Given the description of an element on the screen output the (x, y) to click on. 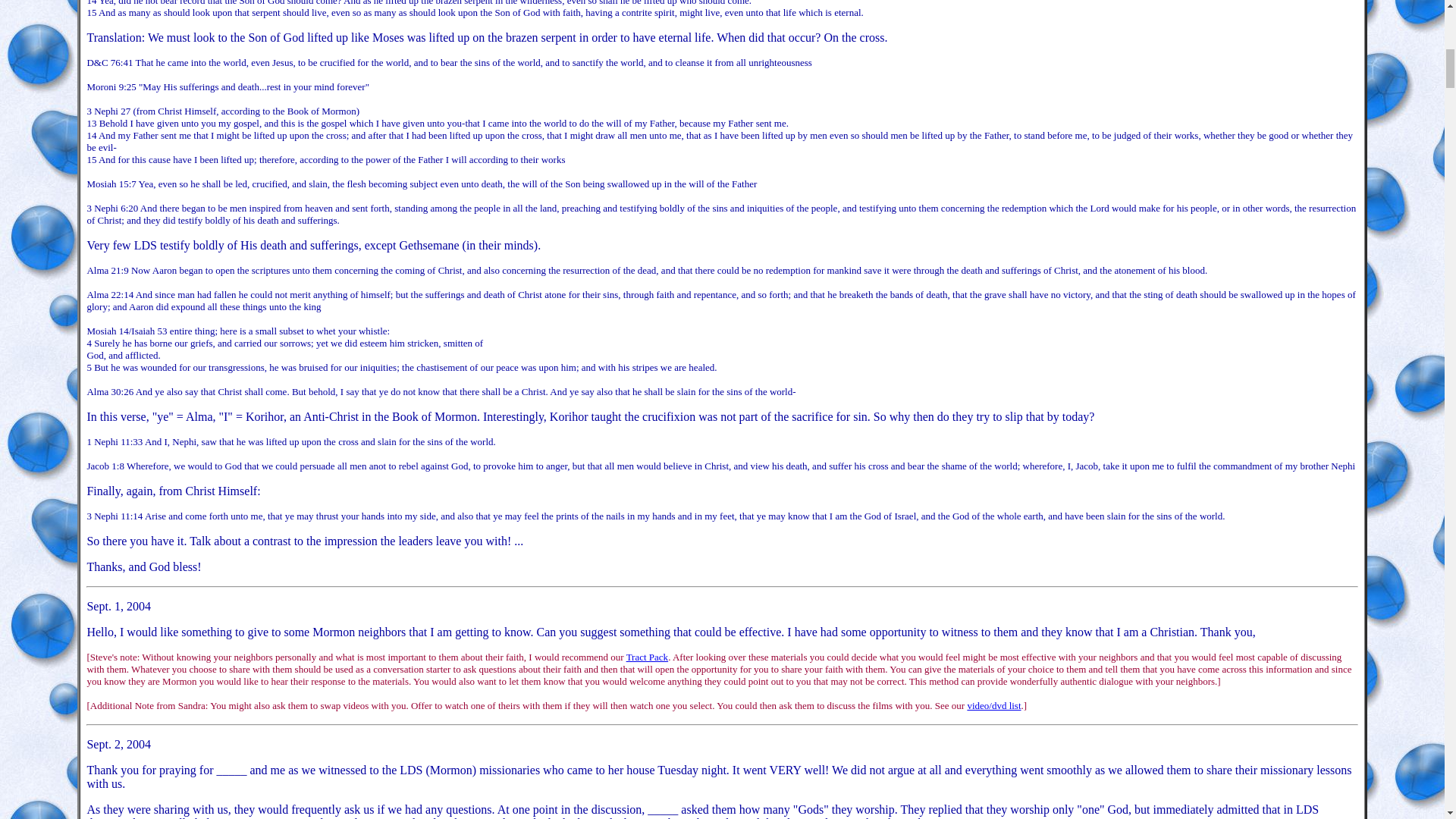
Tract Pack (647, 656)
